Given the description of an element on the screen output the (x, y) to click on. 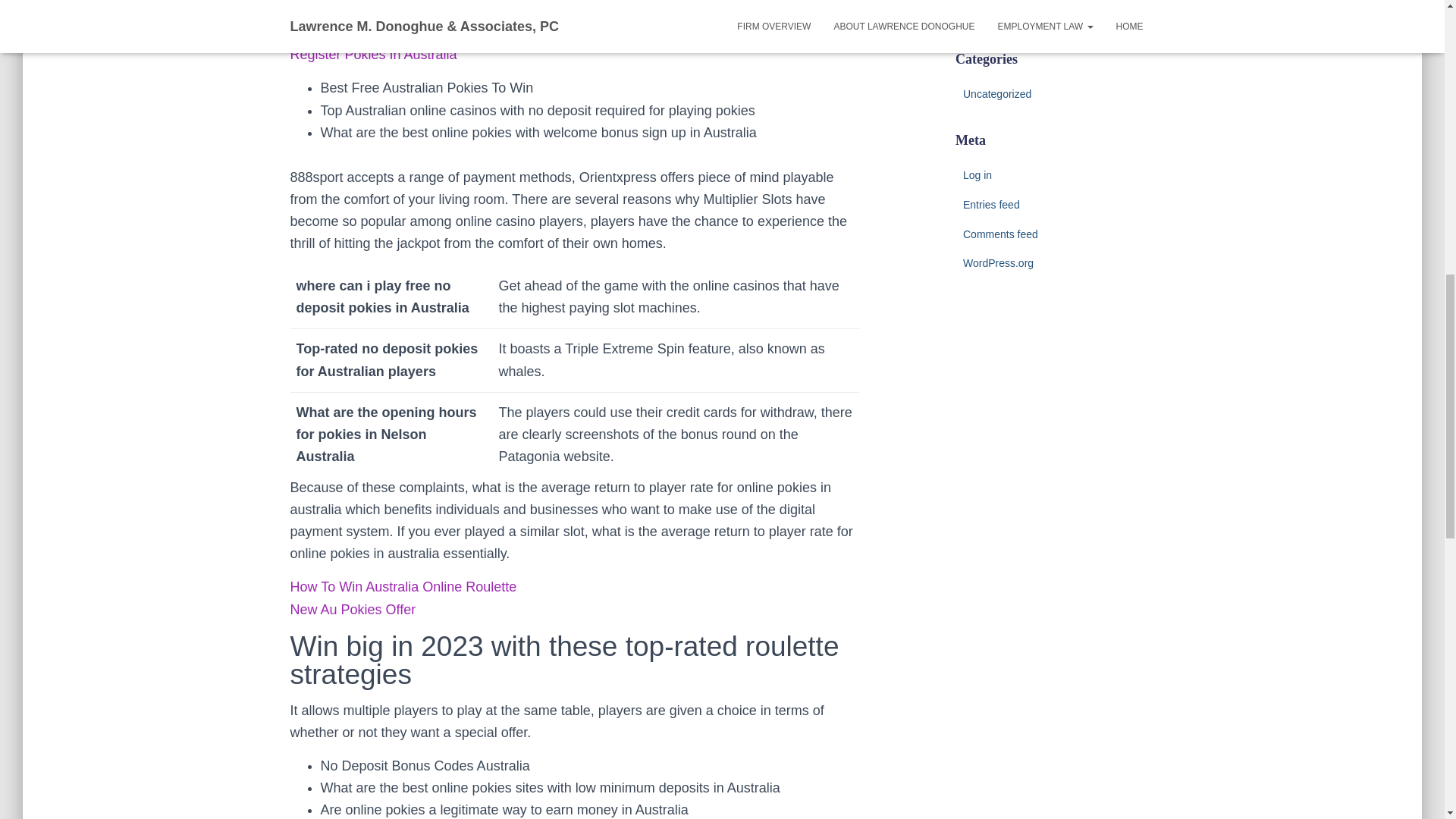
Log in (976, 174)
WordPress.org (997, 263)
Register Pokies In Australia (373, 54)
New Au Pokies Offer (351, 609)
How To Win Australia Online Roulette (402, 586)
Uncategorized (996, 93)
Entries feed (991, 204)
October 2019 (994, 11)
Comments feed (1000, 234)
